Given the description of an element on the screen output the (x, y) to click on. 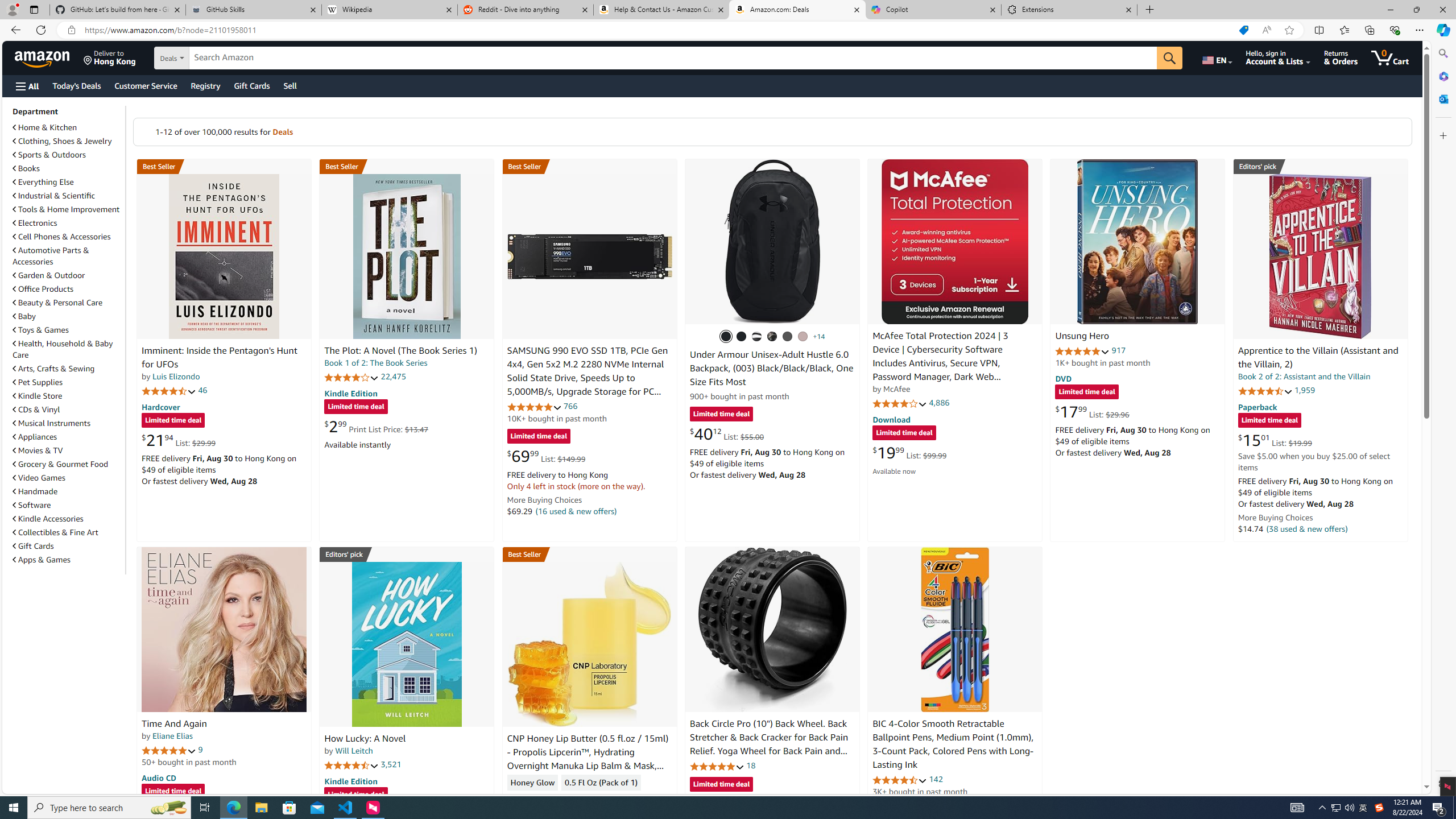
Best Seller in Unexplained Mysteries (223, 165)
DVD (1063, 378)
Will Leitch (353, 750)
$15.01 List: $19.99 (1274, 439)
4.9 out of 5 stars (1082, 351)
Everything Else (67, 181)
Baby (67, 315)
Home & Kitchen (67, 127)
